Given the description of an element on the screen output the (x, y) to click on. 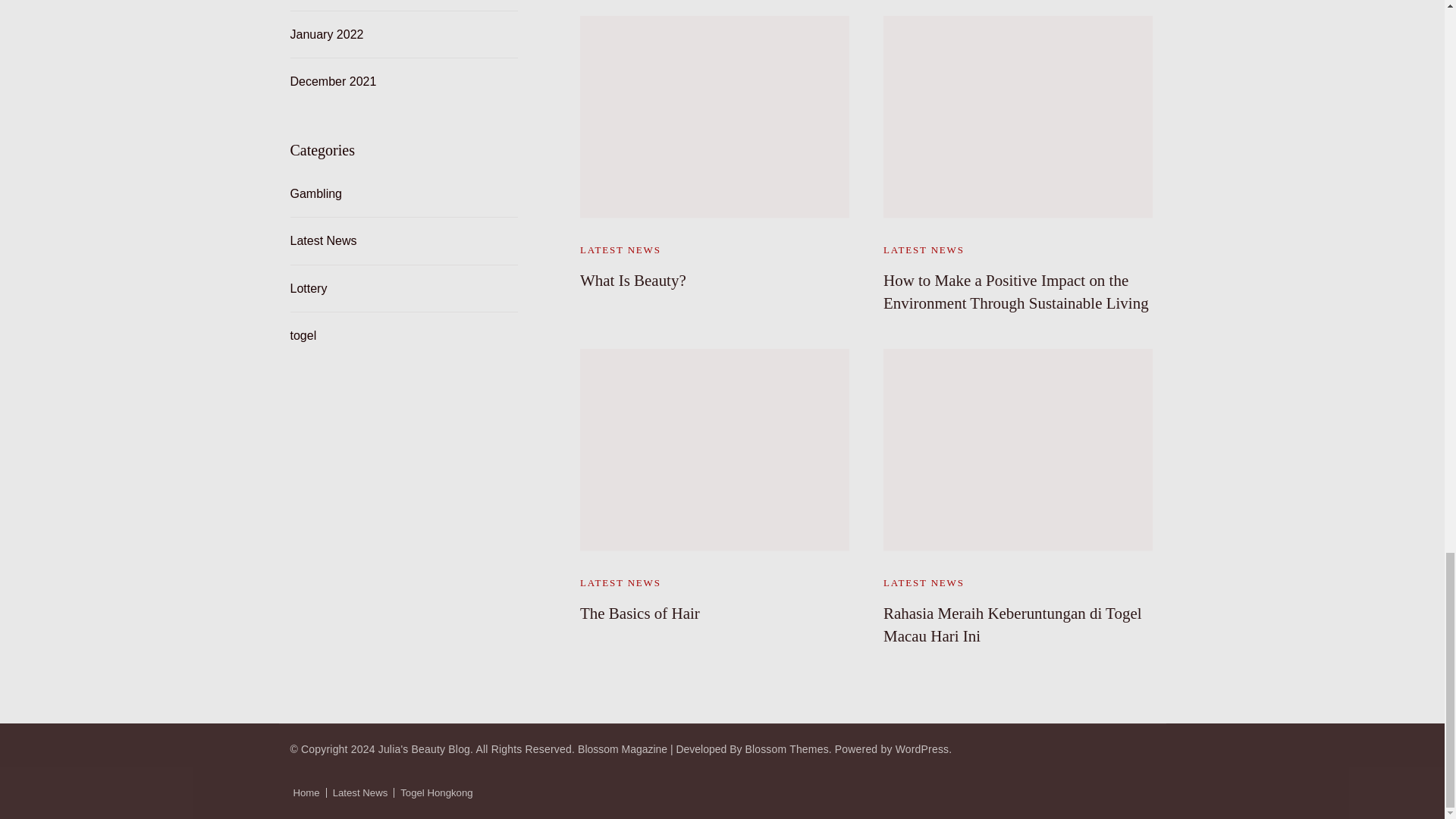
LATEST NEWS (620, 249)
What Is Beauty? (632, 280)
LATEST NEWS (620, 582)
LATEST NEWS (923, 249)
